Given the description of an element on the screen output the (x, y) to click on. 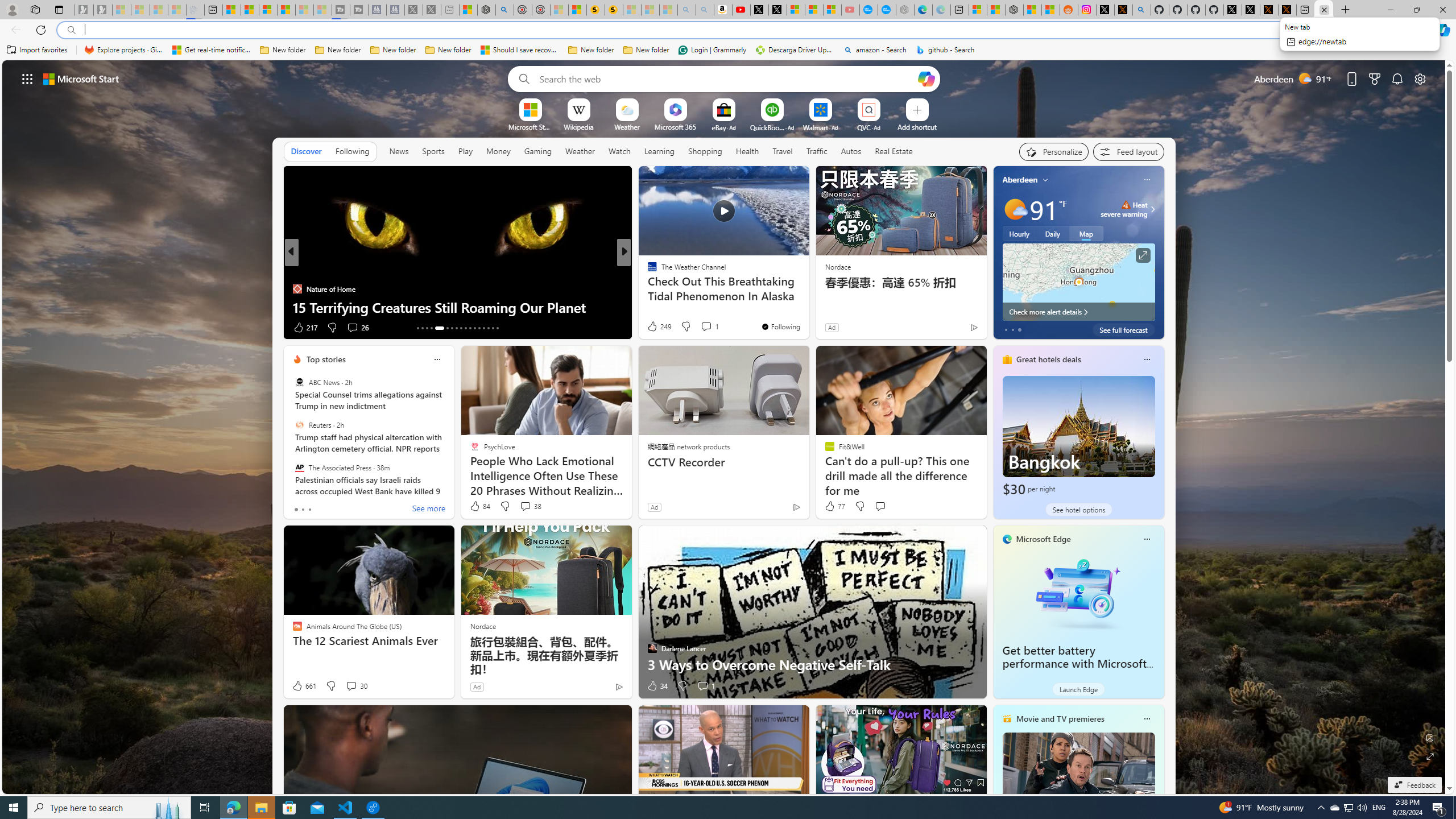
217 Like (304, 327)
Mostly sunny (1014, 208)
See hotel options (1078, 509)
poe - Search (504, 9)
View comments 192 Comment (703, 327)
